Given the description of an element on the screen output the (x, y) to click on. 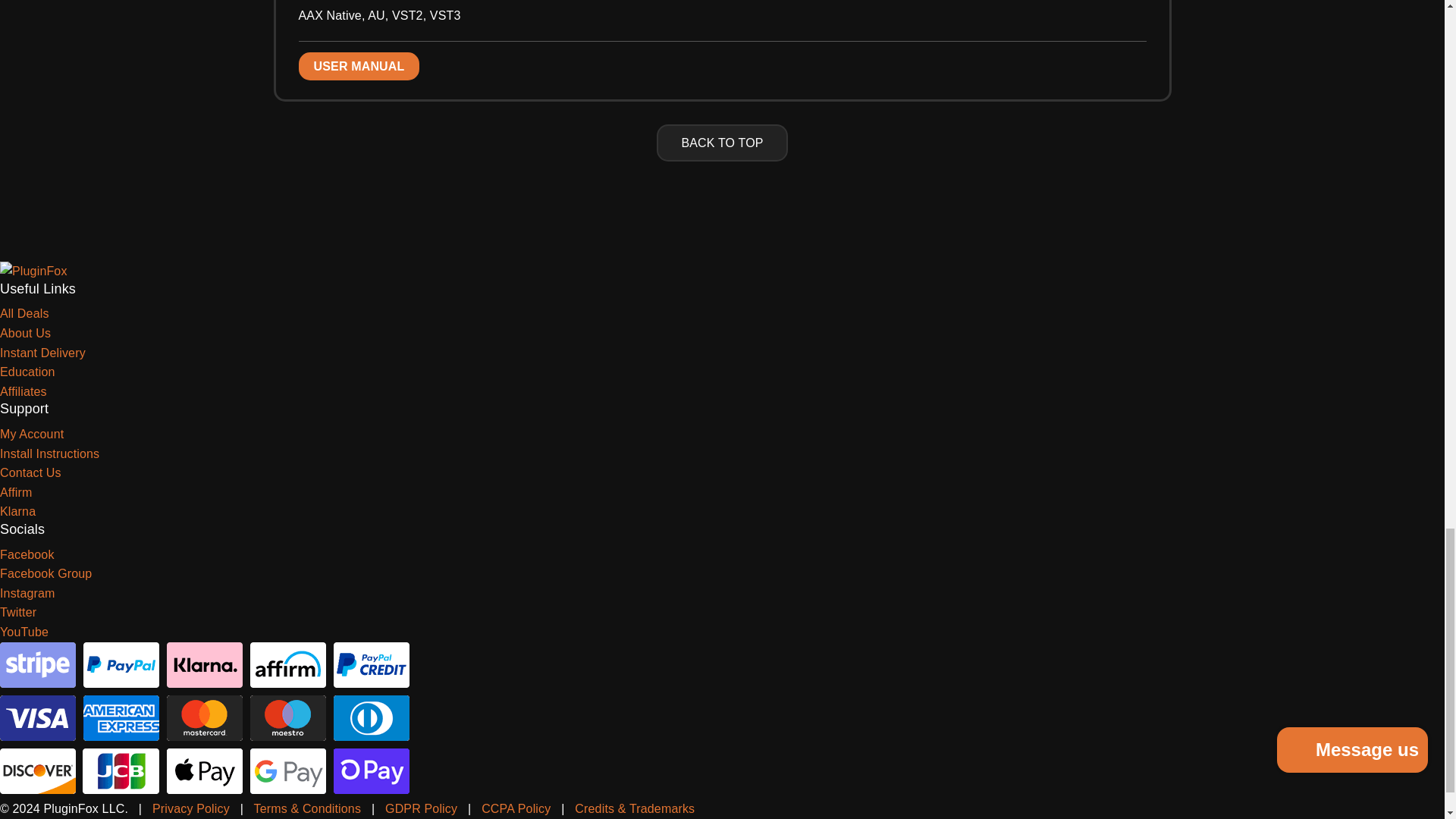
Back to top (721, 143)
